Given the description of an element on the screen output the (x, y) to click on. 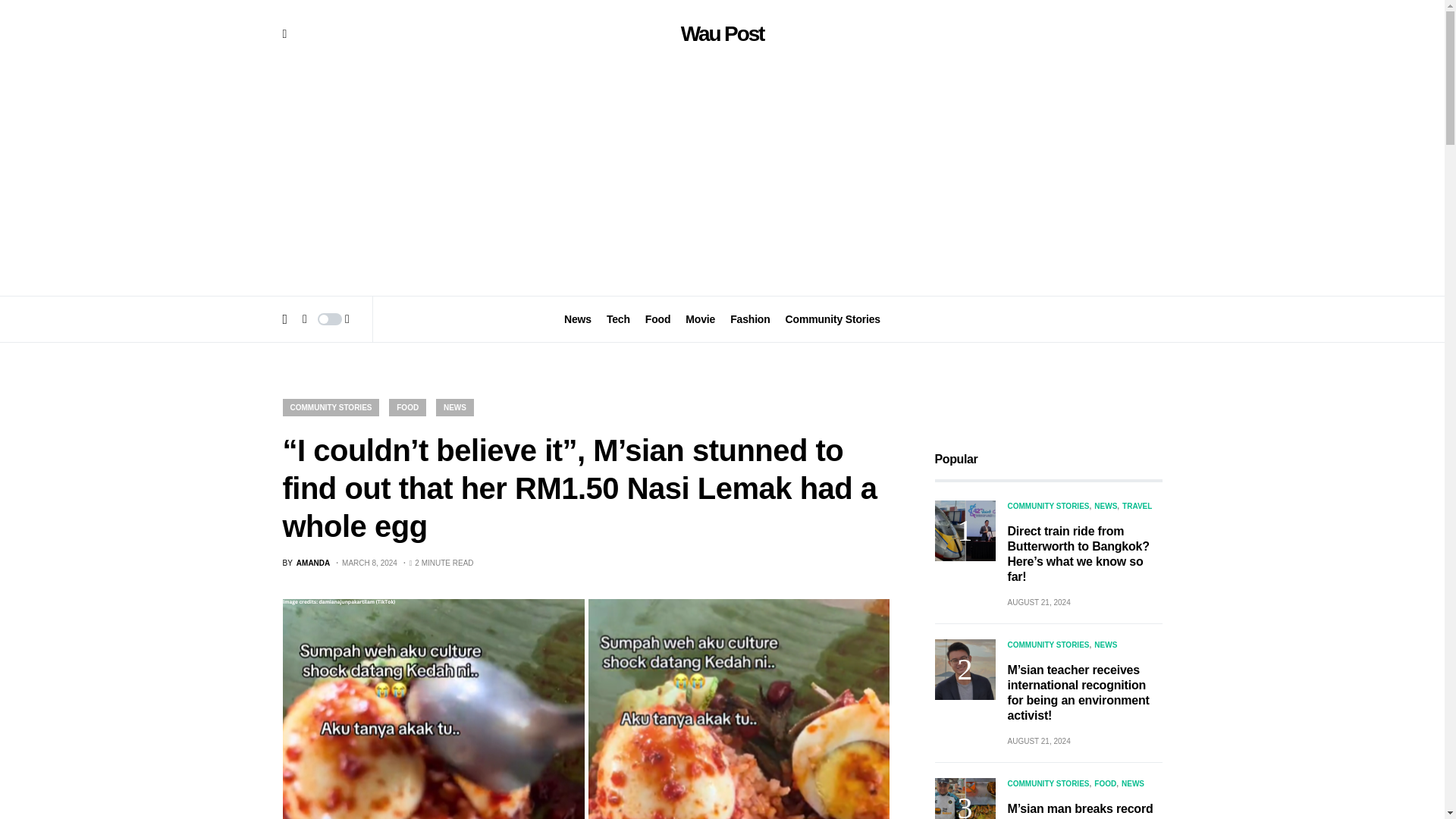
View all posts by Amanda (306, 562)
Wau Post (722, 33)
Community Stories (833, 319)
